Given the description of an element on the screen output the (x, y) to click on. 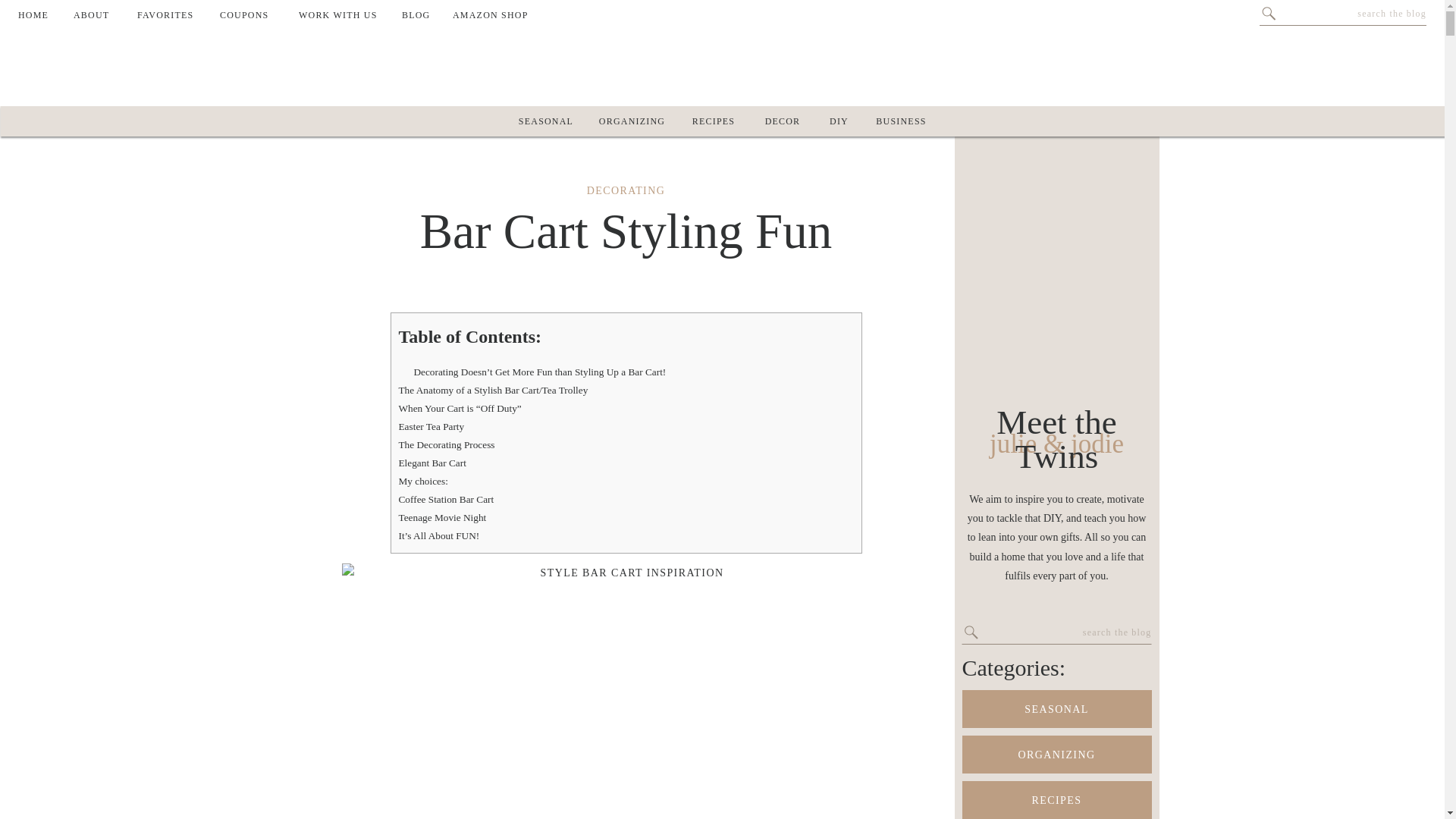
SEASONAL (545, 124)
RECIPES (713, 124)
HOME (37, 15)
COUPONS (250, 15)
BLOG (422, 15)
BUSINESS (900, 121)
DIY (839, 121)
ORGANIZING (631, 121)
ABOUT (97, 15)
AMAZON SHOP (492, 15)
FAVORITES (170, 15)
DECOR (783, 121)
WORK WITH US (342, 15)
